Given the description of an element on the screen output the (x, y) to click on. 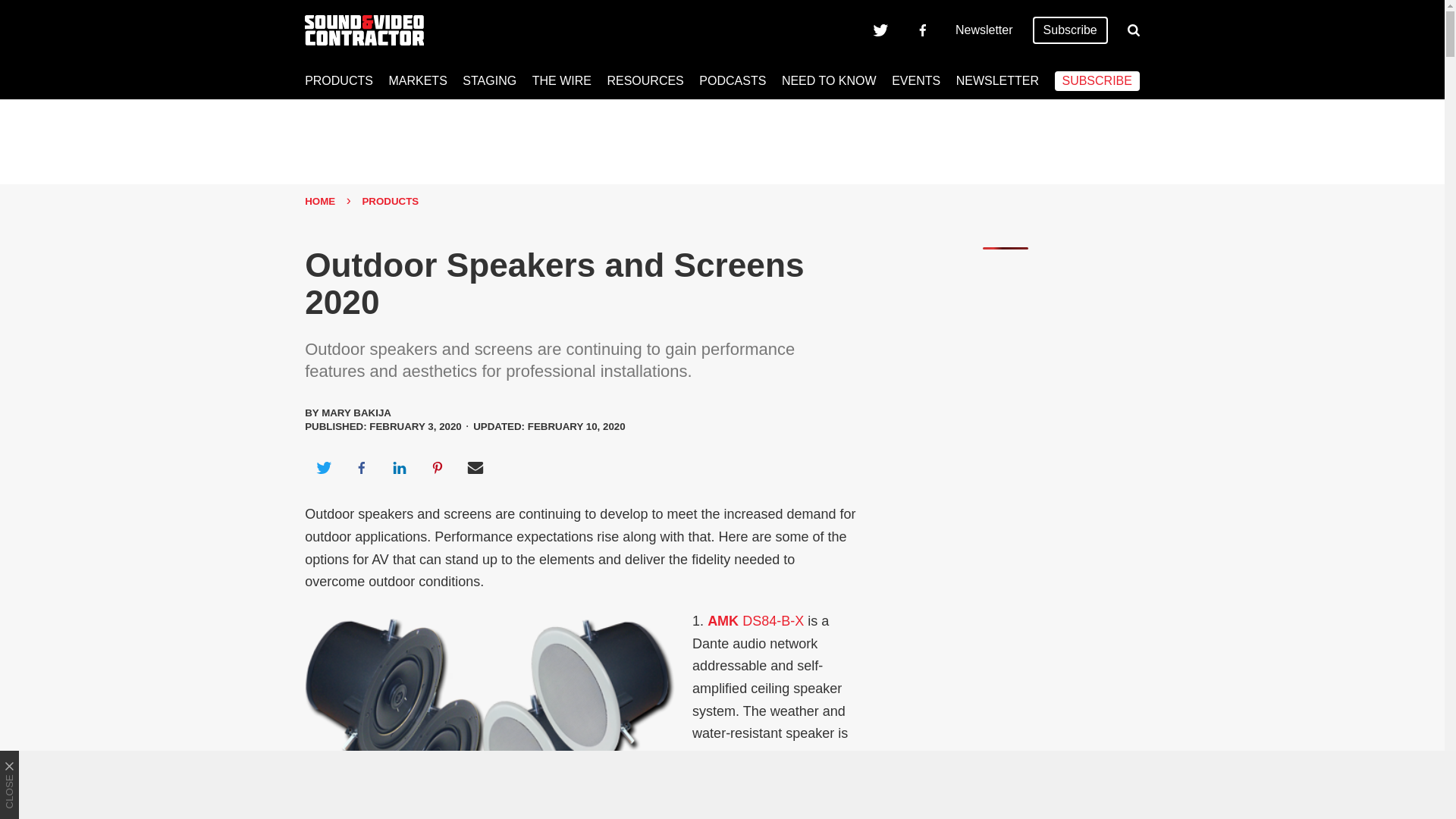
Share on Twitter (323, 467)
Share on Pinterest (438, 467)
Share via Email (476, 467)
Share on Facebook (361, 467)
Share on LinkedIn (399, 467)
